Given the description of an element on the screen output the (x, y) to click on. 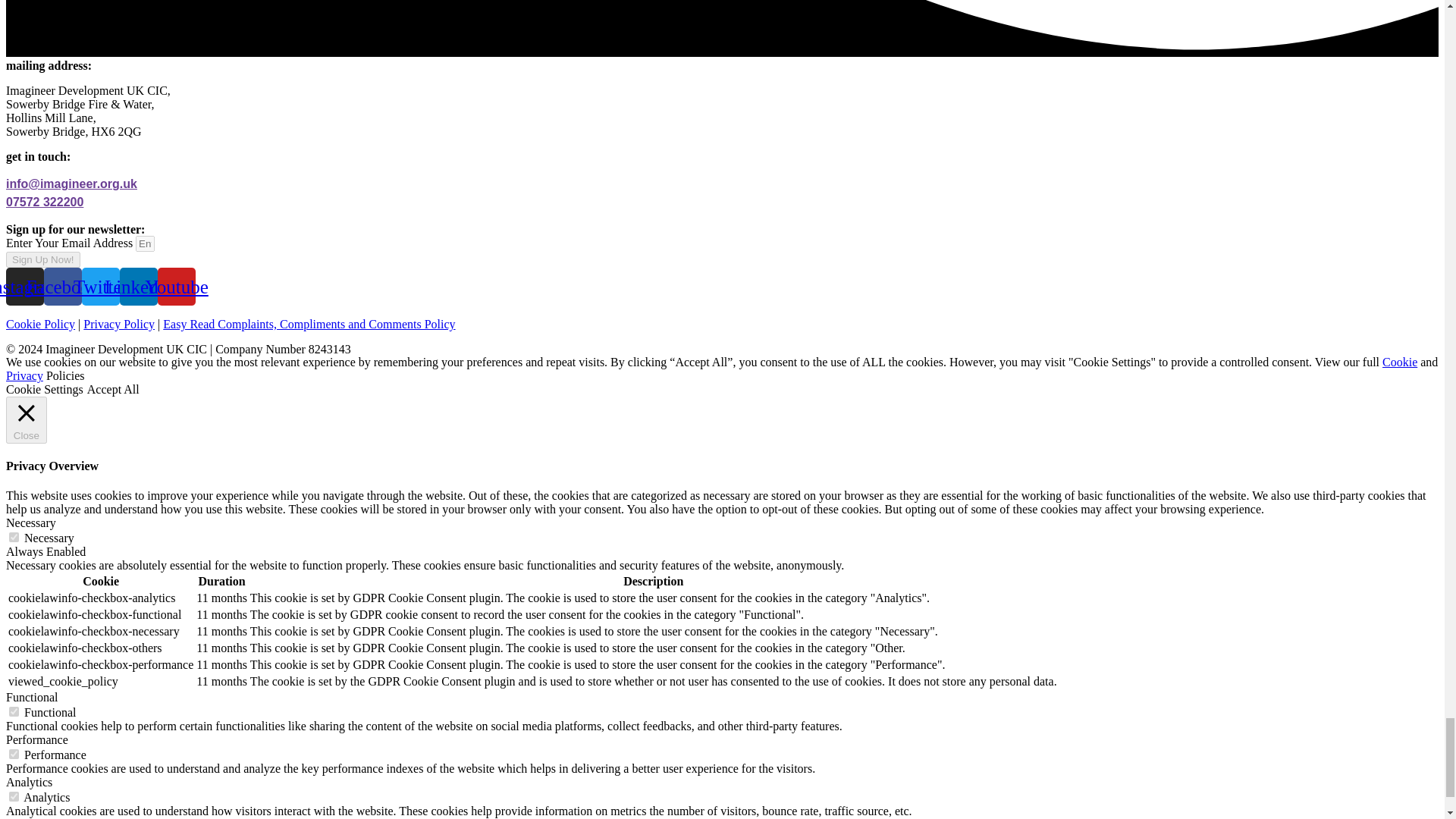
on (13, 537)
07572 322200 (43, 201)
on (13, 796)
on (13, 754)
on (13, 711)
